Given the description of an element on the screen output the (x, y) to click on. 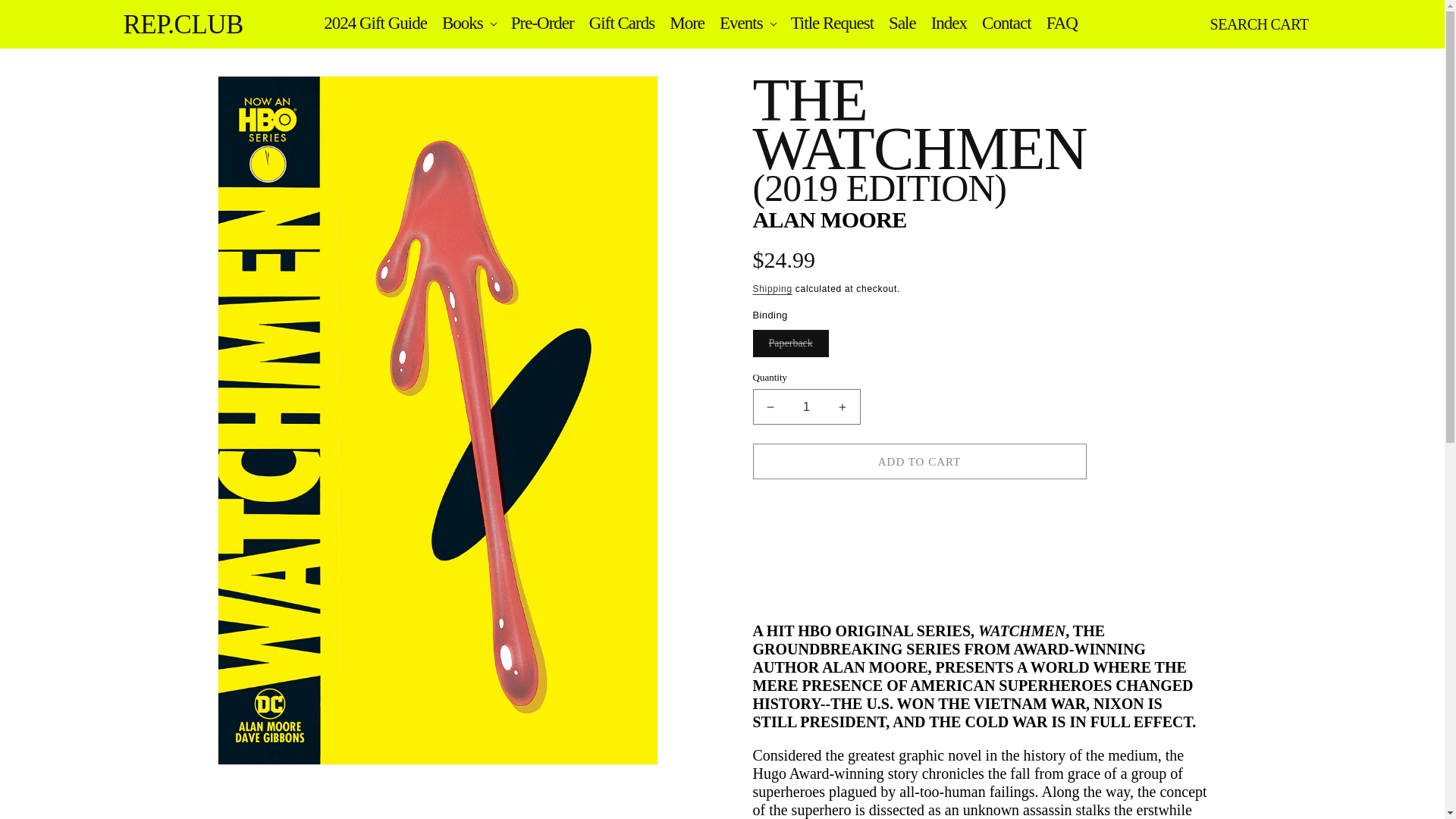
Skip to content (45, 17)
1 (806, 407)
Alan Moore (828, 219)
